Given the description of an element on the screen output the (x, y) to click on. 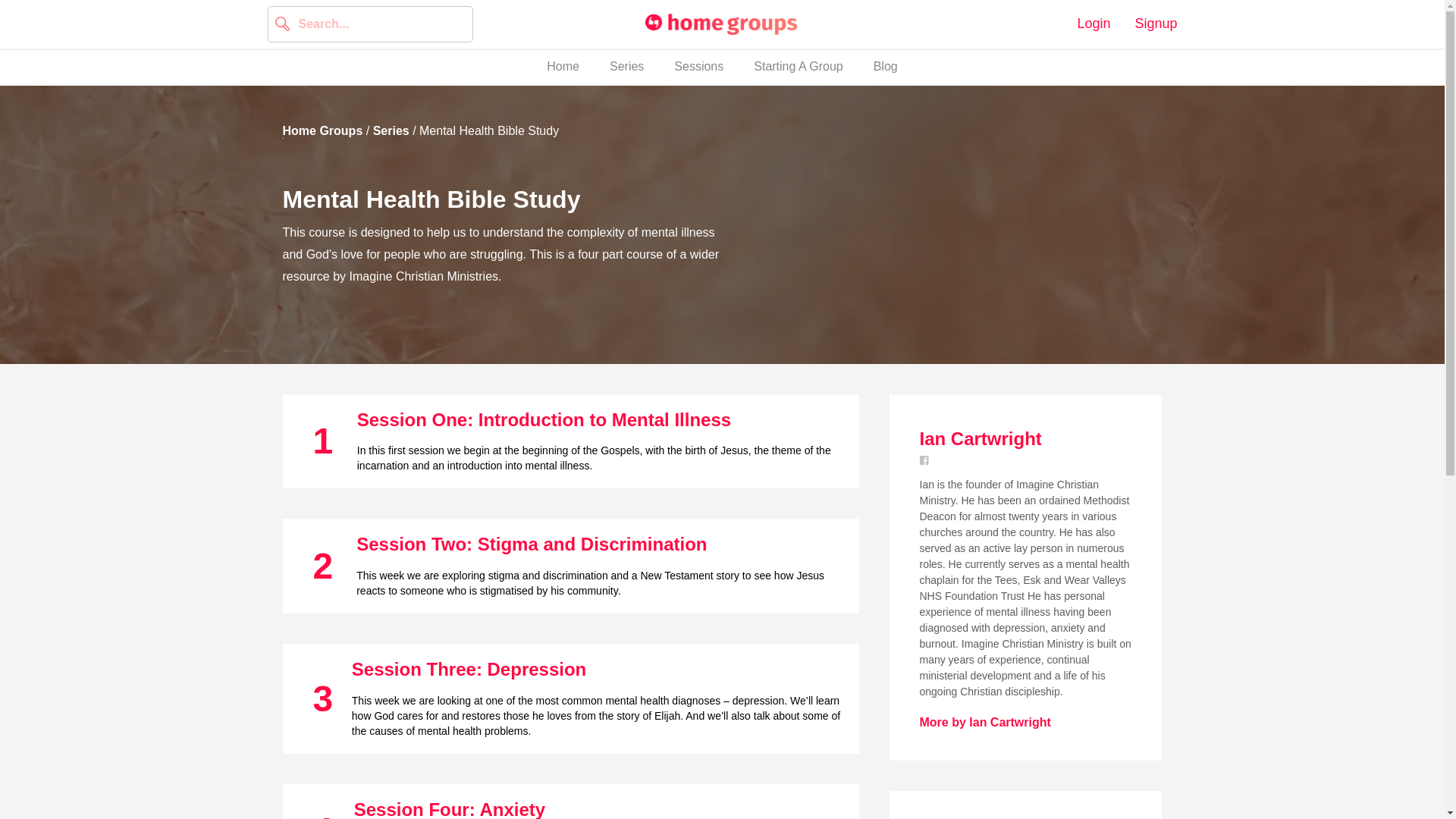
Home Groups (720, 24)
Series (626, 66)
Starting A Group (797, 66)
Signup (1155, 24)
Home (562, 66)
Series (390, 130)
Session One: Introduction to Mental Illness (543, 419)
Session Three: Depression (469, 669)
Login (721, 66)
